Given the description of an element on the screen output the (x, y) to click on. 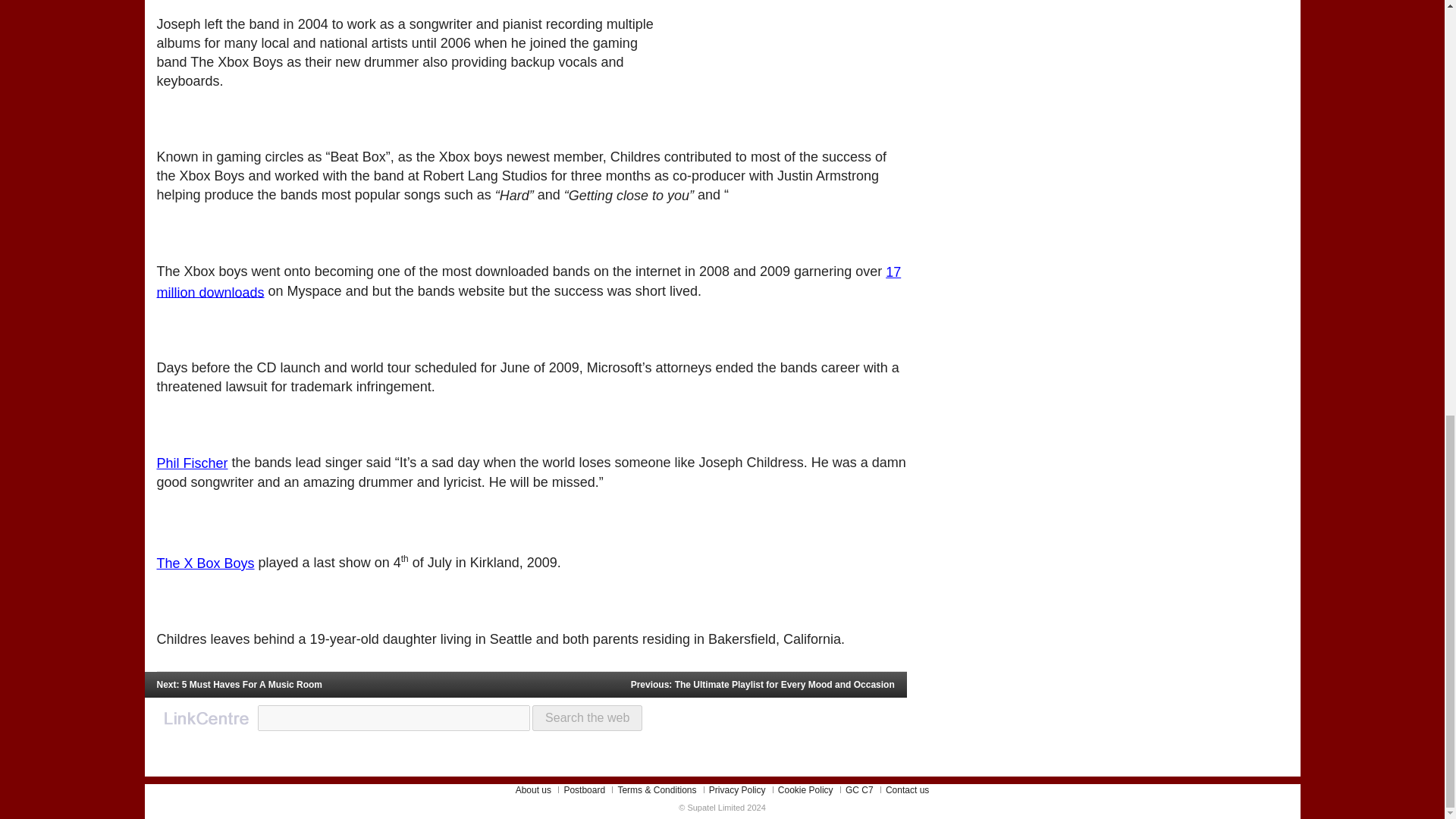
Search the web (587, 718)
Advertisement (793, 24)
Search the web (587, 718)
